Given the description of an element on the screen output the (x, y) to click on. 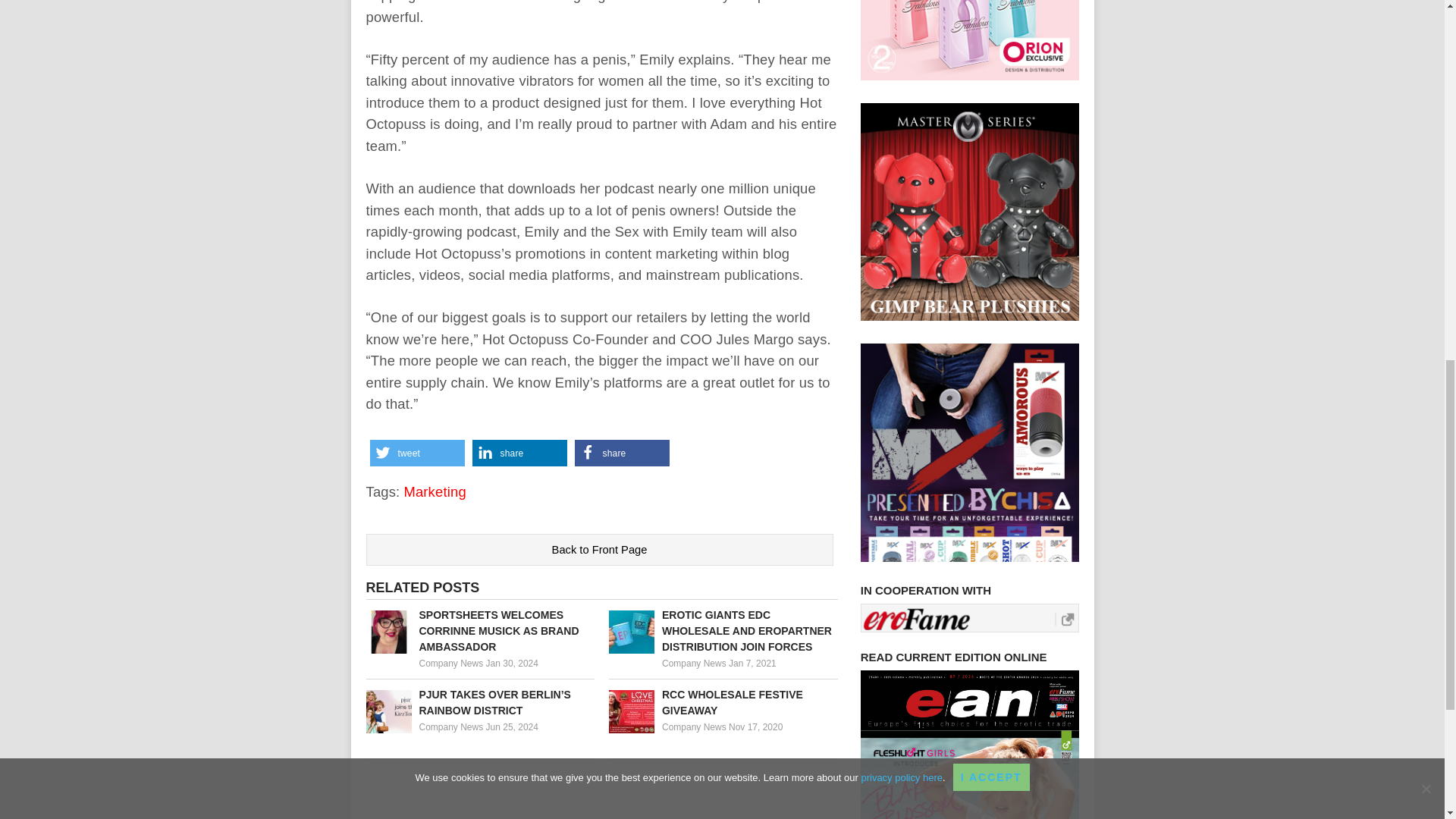
Share on Facebook (622, 452)
Marketing (434, 491)
share  (622, 452)
RCC Wholesale festive giveaway (723, 703)
Company News (694, 663)
Sportsheets welcomes Corrinne Musick as Brand Ambassador (479, 631)
tweet  (416, 452)
Back to Front Page (599, 549)
Company News (694, 726)
Share on Twitter (416, 452)
Company News (451, 726)
Share on LinkedIn (518, 452)
SPORTSHEETS WELCOMES CORRINNE MUSICK AS BRAND AMBASSADOR (479, 631)
